Given the description of an element on the screen output the (x, y) to click on. 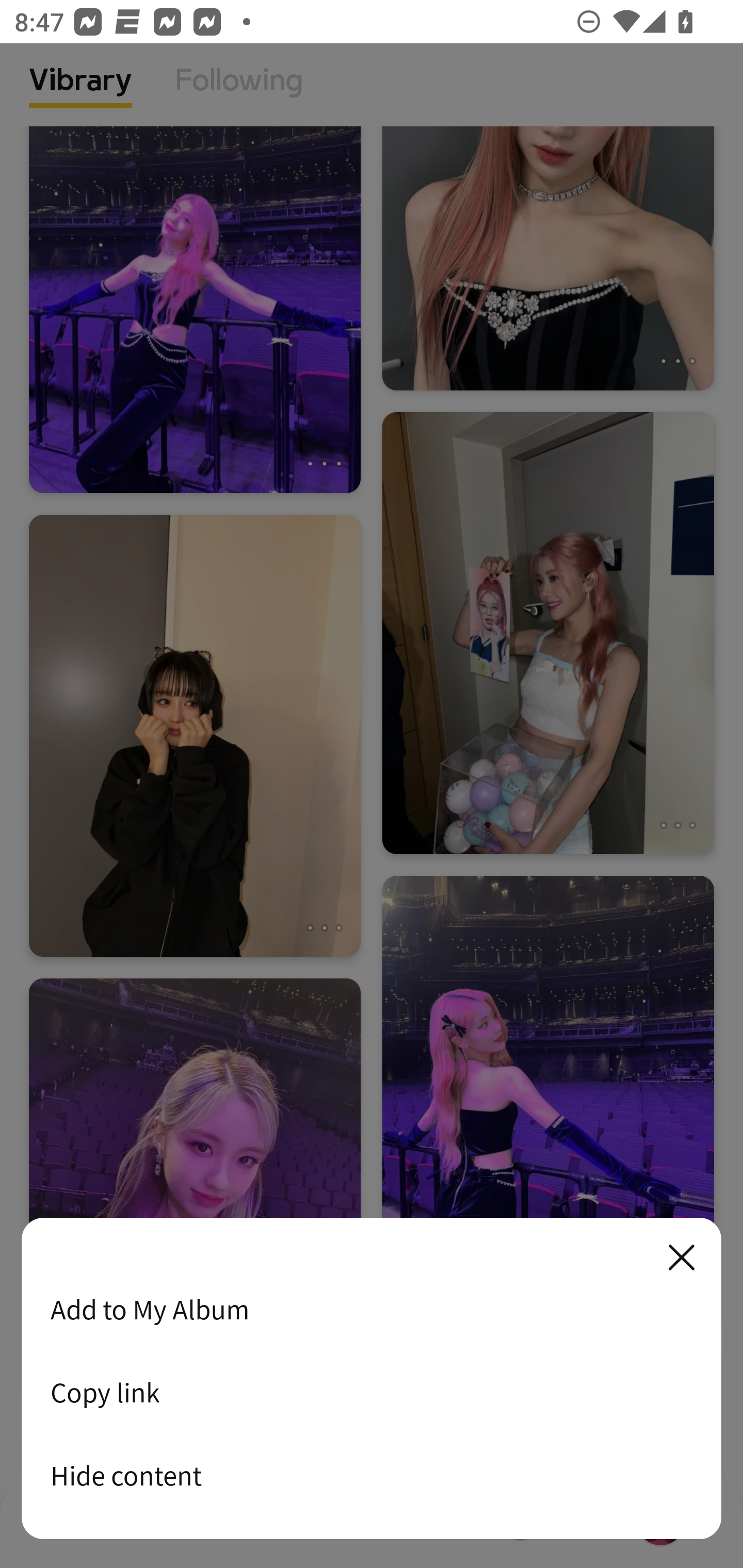
Add to My Album Copy link Hide content (371, 1378)
Add to My Album (371, 1308)
Copy link (371, 1391)
Hide content (371, 1474)
